Given the description of an element on the screen output the (x, y) to click on. 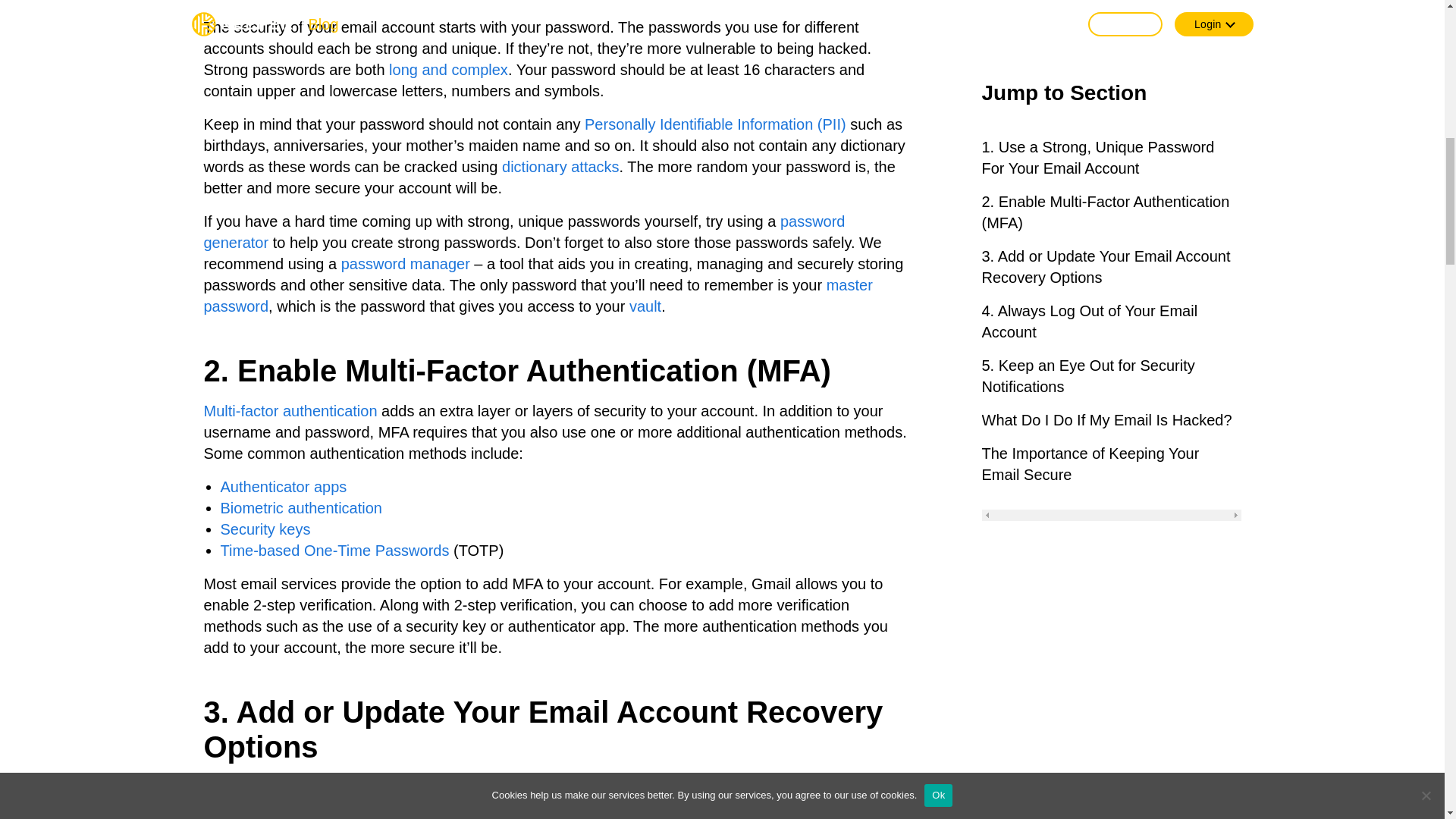
long and complex (448, 69)
Time-based One-Time Passwords (333, 550)
Biometric authentication (300, 507)
Security keys (264, 528)
Authenticator apps (282, 486)
dictionary attacks (561, 166)
Multi-factor authentication (290, 410)
master password (537, 295)
password generator (523, 231)
The Importance of Keeping Your Email Secure (1110, 33)
vault (644, 306)
password manager (405, 263)
